Given the description of an element on the screen output the (x, y) to click on. 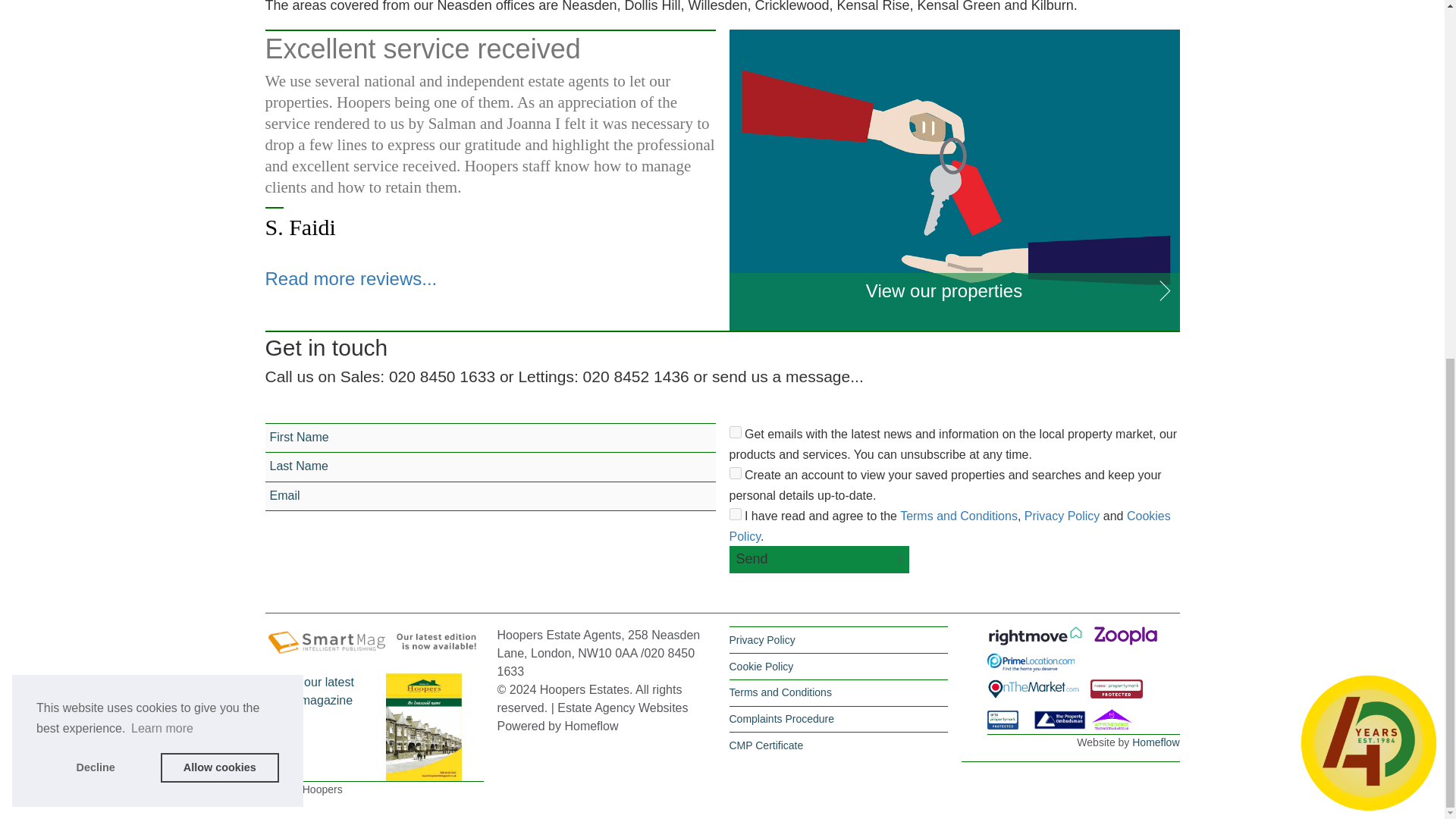
on (735, 513)
View our properties (954, 301)
Decline (95, 133)
Learn more (162, 95)
Privacy Policy (1062, 515)
Allow cookies (219, 133)
Read more reviews... (351, 278)
on (735, 431)
Terms and Conditions (958, 515)
on (735, 472)
